Given the description of an element on the screen output the (x, y) to click on. 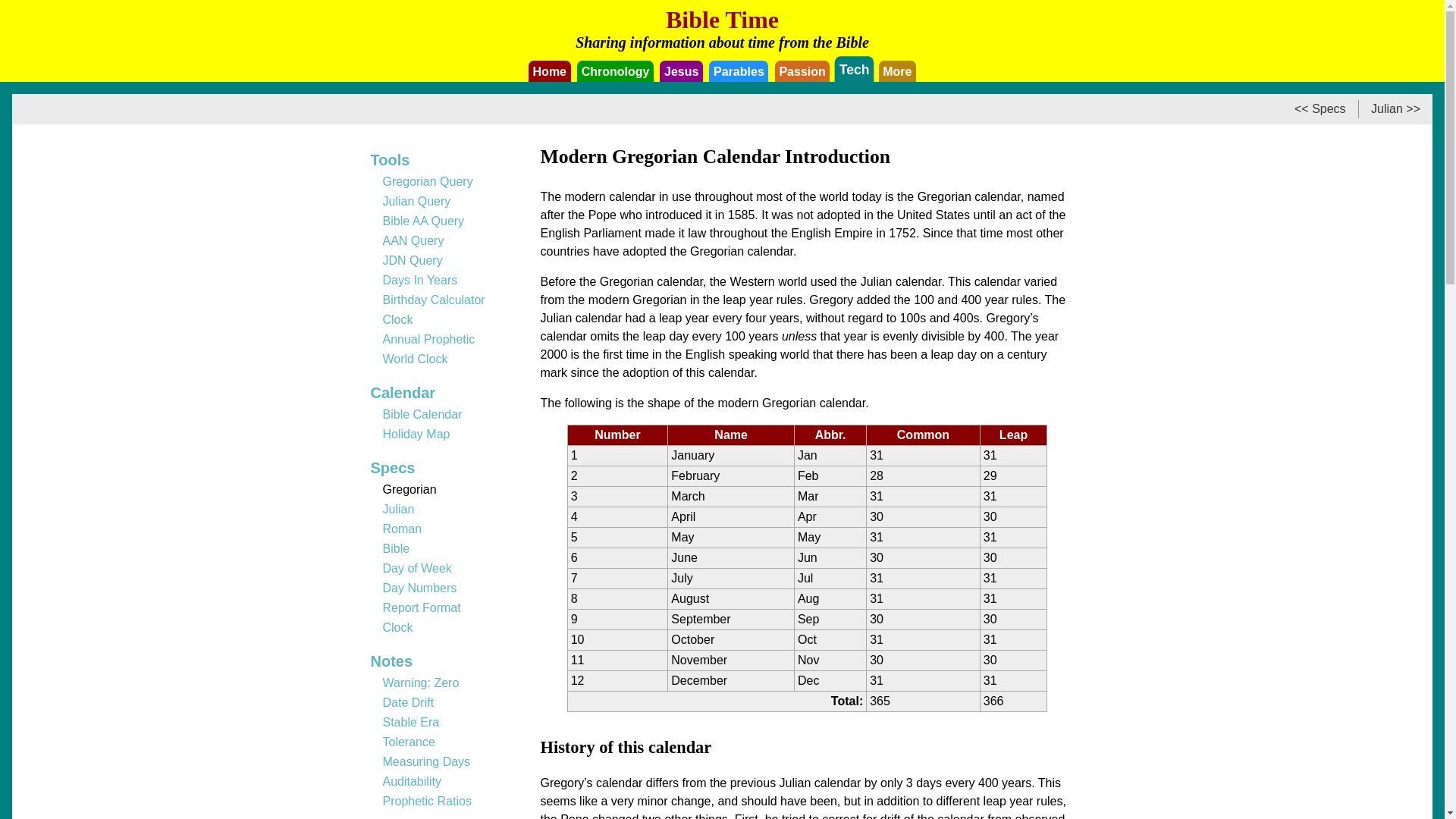
Jesus (680, 71)
Measuring Days (425, 761)
Chronology (614, 71)
Bible (395, 548)
Home (549, 71)
Warning: Zero (419, 682)
Calendar (402, 392)
Tech (853, 67)
Stable Era (410, 721)
Julian Query (415, 201)
